Given the description of an element on the screen output the (x, y) to click on. 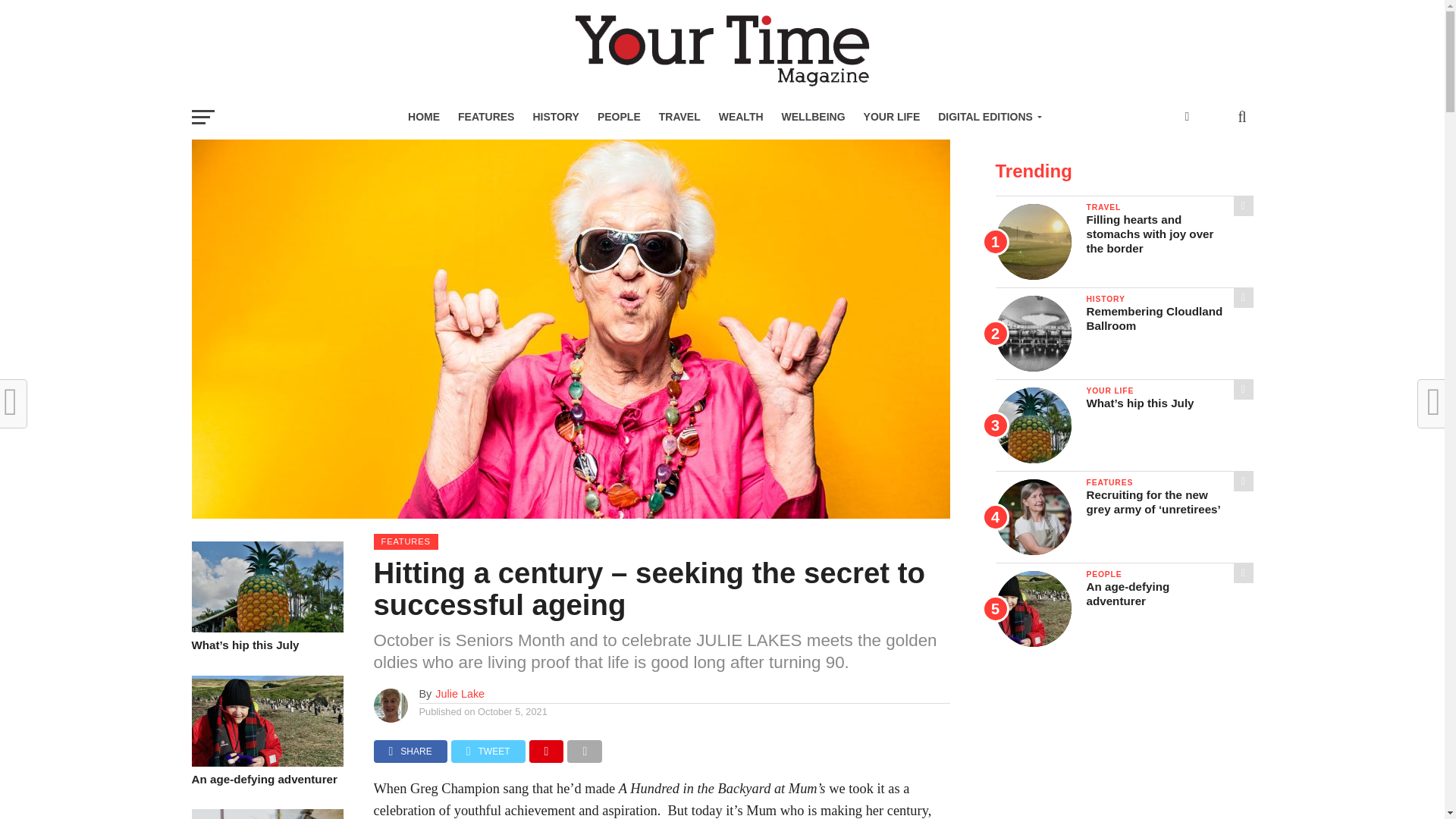
WEALTH (741, 116)
FEATURES (485, 116)
YOUR LIFE (892, 116)
WELLBEING (813, 116)
An age-defying adventurer (266, 780)
An age-defying adventurer (266, 762)
HISTORY (555, 116)
PEOPLE (618, 116)
TRAVEL (679, 116)
HOME (423, 116)
DIGITAL EDITIONS (986, 116)
Posts by Julie Lake (459, 693)
